Given the description of an element on the screen output the (x, y) to click on. 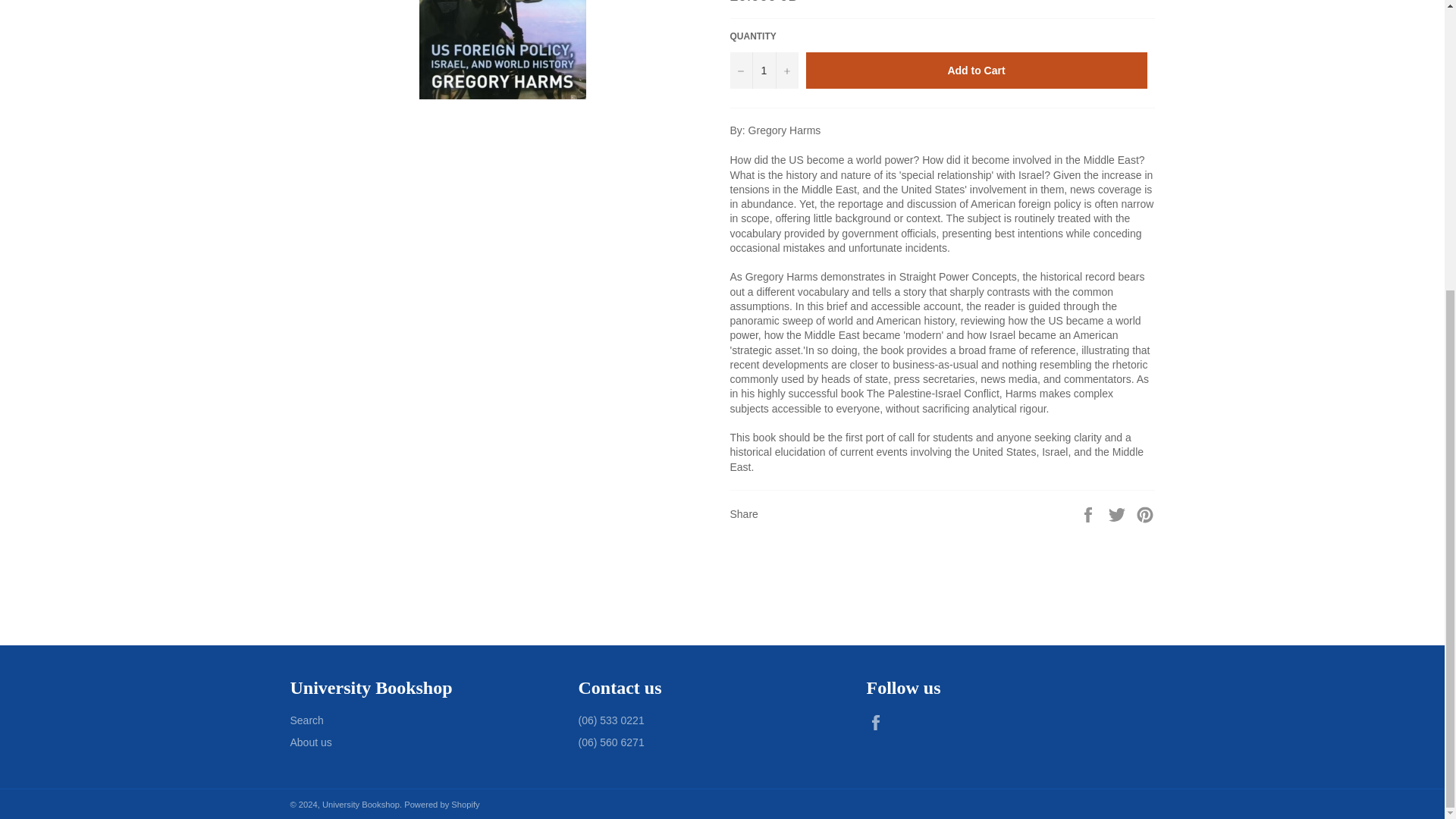
Pin on Pinterest (1144, 513)
Tweet on Twitter (1118, 513)
University Bookshop on Facebook (878, 722)
Share on Facebook (1089, 513)
1 (763, 70)
